Given the description of an element on the screen output the (x, y) to click on. 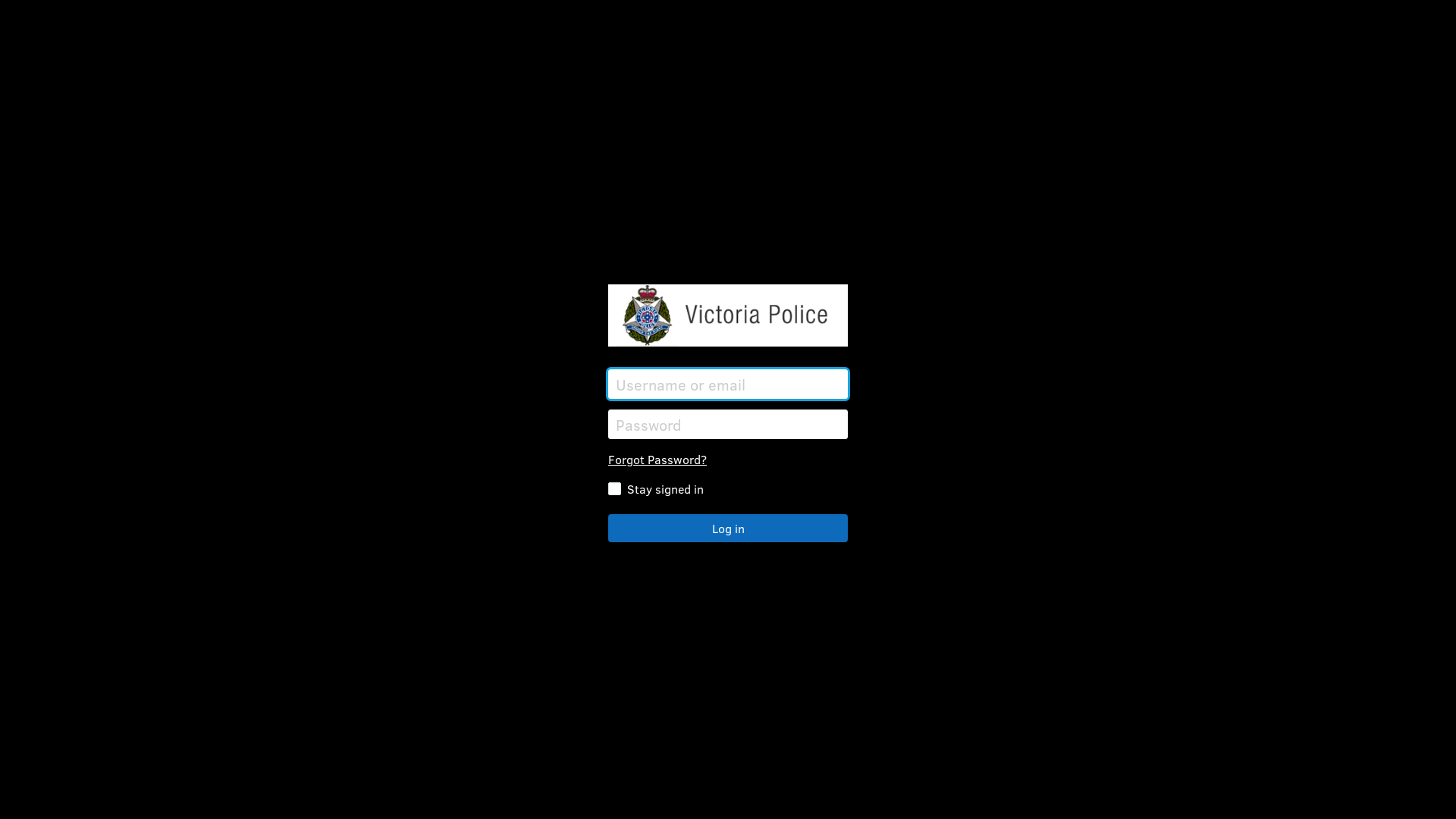
Log in Element type: text (727, 528)
Forgot Password? Element type: text (657, 459)
Go to Homepage Element type: hover (727, 315)
